Given the description of an element on the screen output the (x, y) to click on. 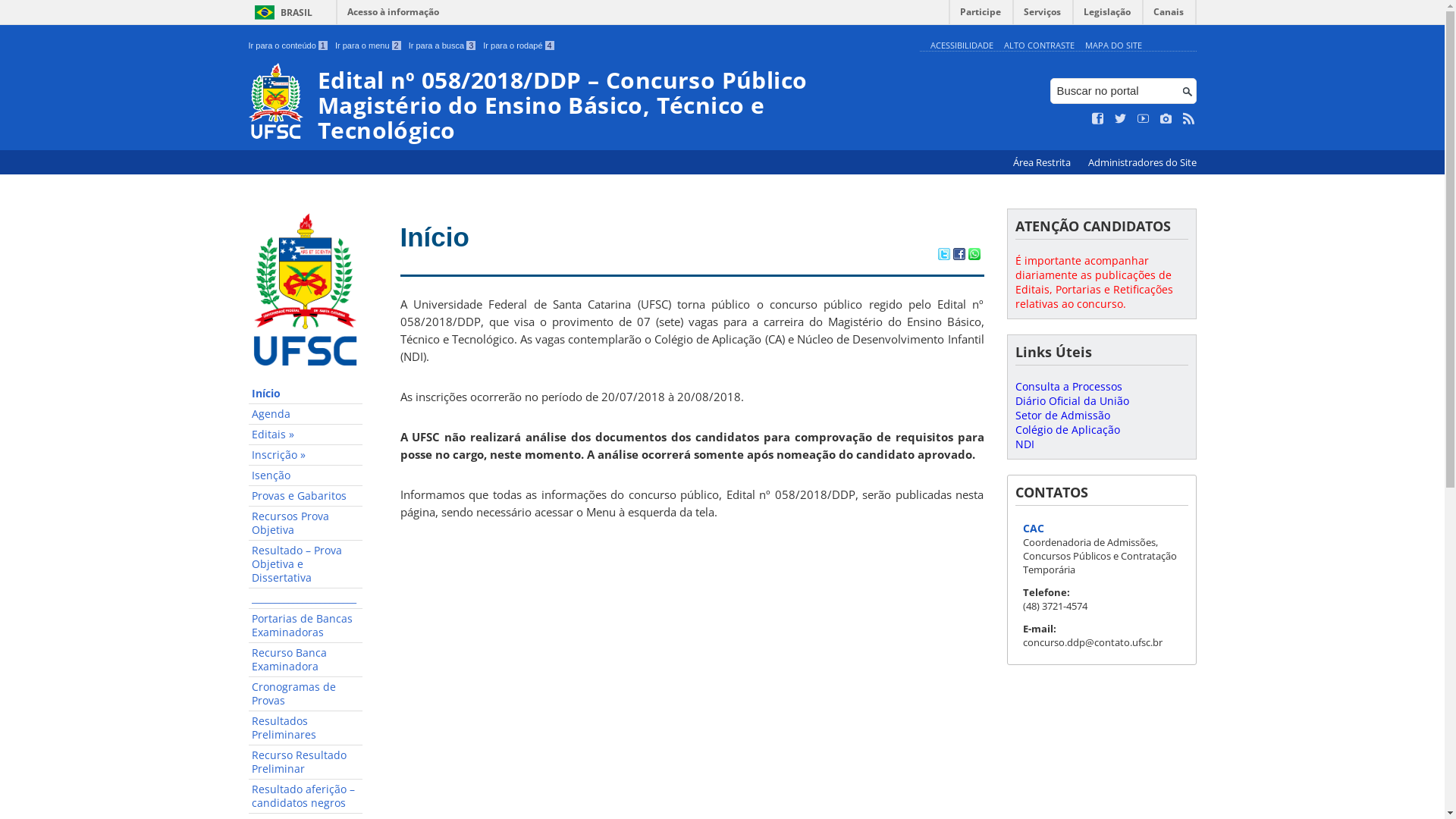
Recursos Prova Objetiva Element type: text (305, 523)
Administradores do Site Element type: text (1141, 162)
BRASIL Element type: text (280, 12)
Provas e Gabaritos Element type: text (305, 496)
Ir para a busca 3 Element type: text (442, 45)
Curta no Facebook Element type: hover (1098, 118)
MAPA DO SITE Element type: text (1112, 44)
Canais Element type: text (1169, 15)
Compartilhar no WhatsApp Element type: hover (973, 255)
Resultados Preliminares Element type: text (305, 728)
Siga no Twitter Element type: hover (1120, 118)
Ir para o menu 2 Element type: text (368, 45)
Portarias de Bancas Examinadoras Element type: text (305, 625)
Consulta a Processos Element type: text (1067, 386)
_______________________ Element type: text (305, 598)
Veja no Instagram Element type: hover (1166, 118)
ACESSIBILIDADE Element type: text (960, 44)
Participe Element type: text (980, 15)
Agenda Element type: text (305, 414)
Compartilhar no Twitter Element type: hover (943, 255)
Cronogramas de Provas Element type: text (305, 694)
Recurso Resultado Preliminar Element type: text (305, 762)
concurso.ddp@contato.ufsc.br Element type: text (1091, 642)
ALTO CONTRASTE Element type: text (1039, 44)
Recurso Banca Examinadora Element type: text (305, 660)
Compartilhar no Facebook Element type: hover (958, 255)
NDI Element type: text (1023, 443)
CAC Element type: text (1032, 527)
